Given the description of an element on the screen output the (x, y) to click on. 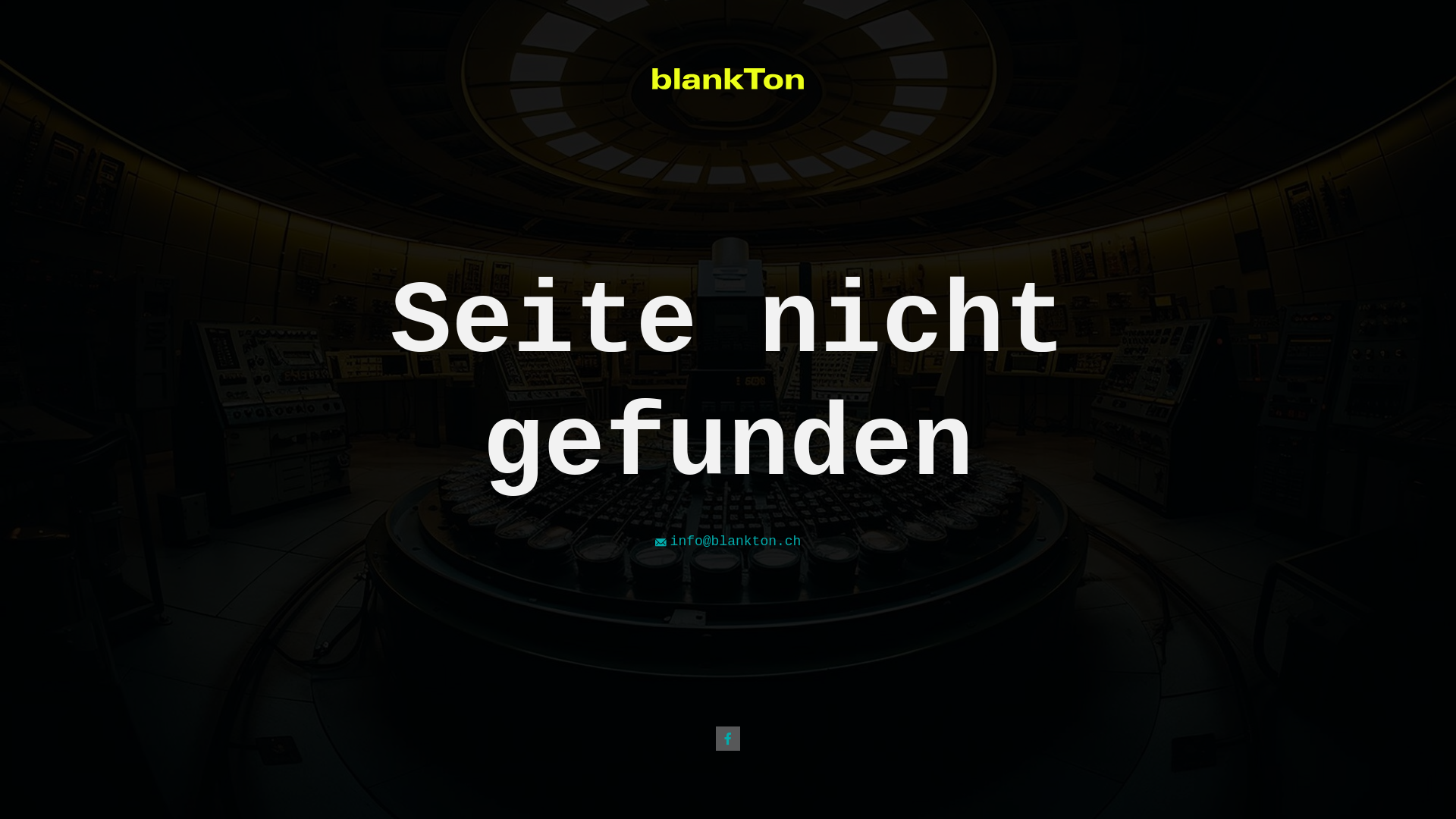
Follow me on Facebook Element type: text (727, 738)
info@blankton.ch Element type: text (728, 541)
